Given the description of an element on the screen output the (x, y) to click on. 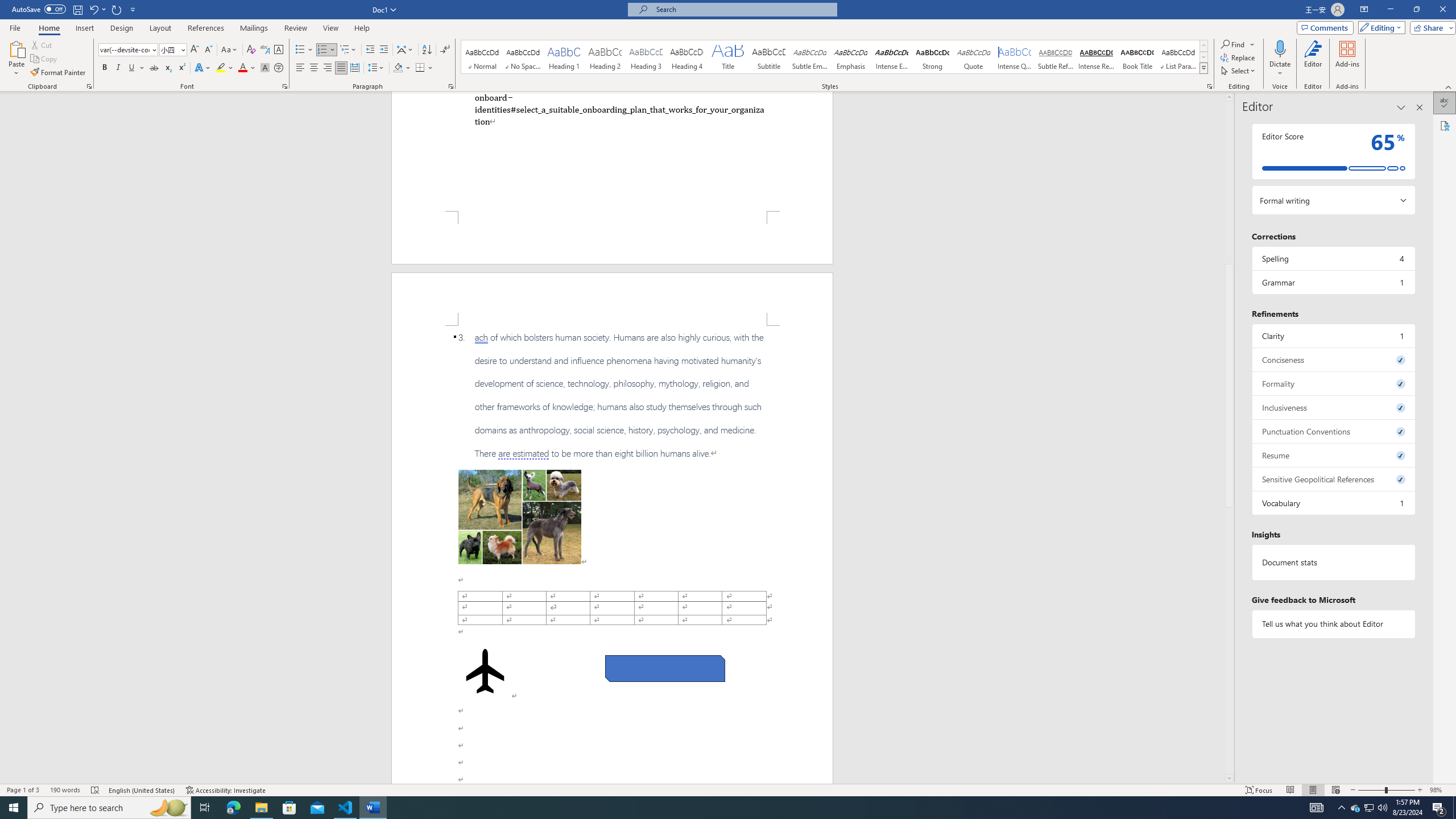
Airplane with solid fill (485, 670)
Styles... (1209, 85)
Font Size (169, 49)
Dictate (1280, 48)
Numbering (322, 49)
Sort... (426, 49)
Font (124, 49)
Strikethrough (154, 67)
Vocabulary, 1 issue. Press space or enter to review items. (1333, 502)
Replace... (1237, 56)
Bullets (304, 49)
Header -Section 1- (611, 298)
Change Case (229, 49)
